Given the description of an element on the screen output the (x, y) to click on. 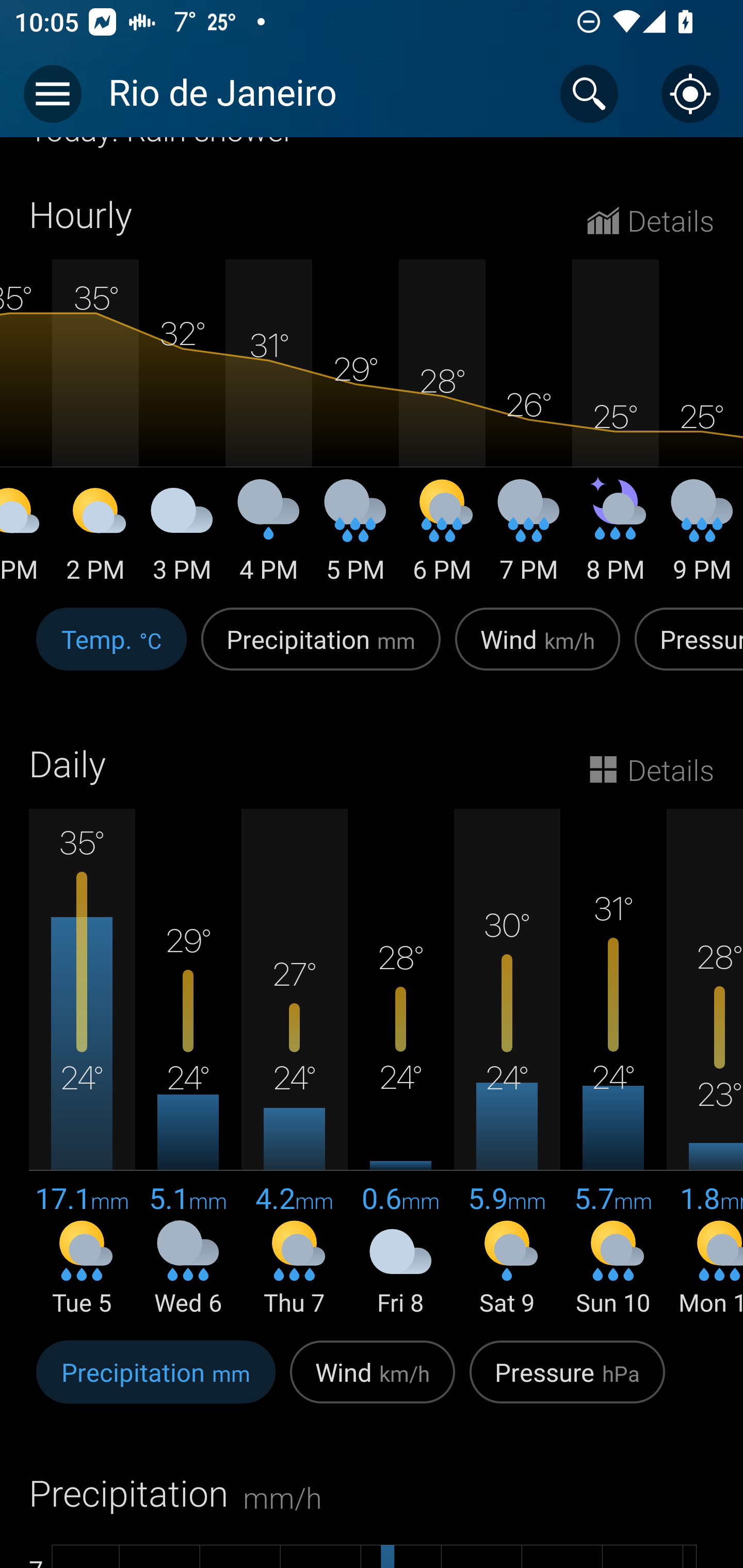
1 PM (26, 538)
2 PM (95, 538)
3 PM (181, 538)
4 PM (268, 538)
5 PM (355, 538)
6 PM (441, 538)
7 PM (528, 538)
8 PM (615, 538)
9 PM (701, 538)
Temp. °C (110, 649)
Precipitation mm (320, 649)
Wind km/h (537, 649)
Pressure (685, 649)
35° 24° 17.1 mm Tue 5 (81, 1063)
29° 24° 5.1 mm Wed 6 (188, 1063)
27° 24° 4.2 mm Thu 7 (294, 1063)
28° 24° 0.6 mm Fri 8 (400, 1063)
30° 24° 5.9 mm Sat 9 (506, 1063)
31° 24° 5.7 mm Sun 10 (613, 1063)
28° 23° 1.8 mm Mon 11 (704, 1063)
Precipitation mm (155, 1381)
Wind km/h (372, 1381)
Pressure hPa (567, 1381)
